Given the description of an element on the screen output the (x, y) to click on. 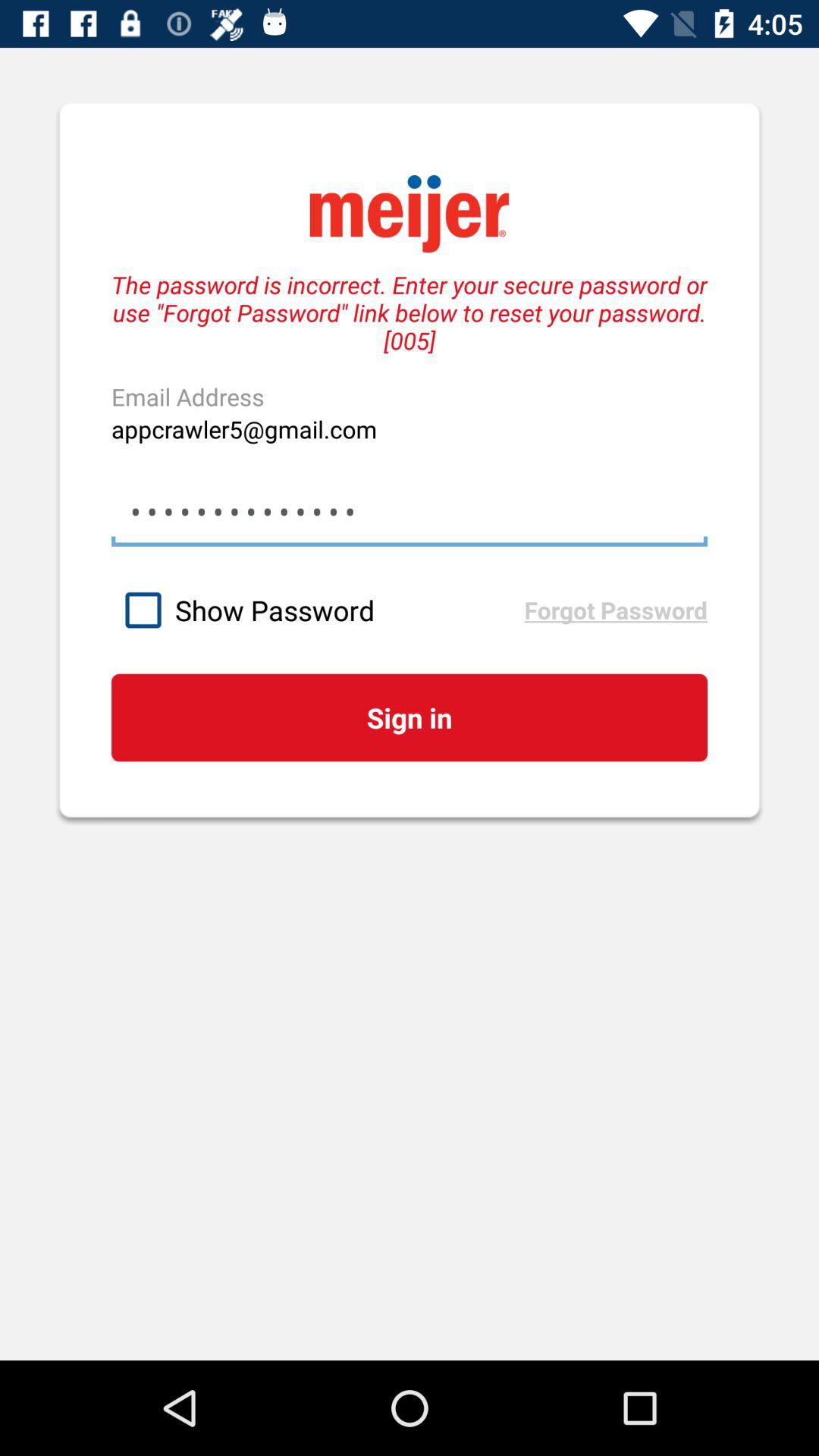
tap the sign in item (409, 717)
